Given the description of an element on the screen output the (x, y) to click on. 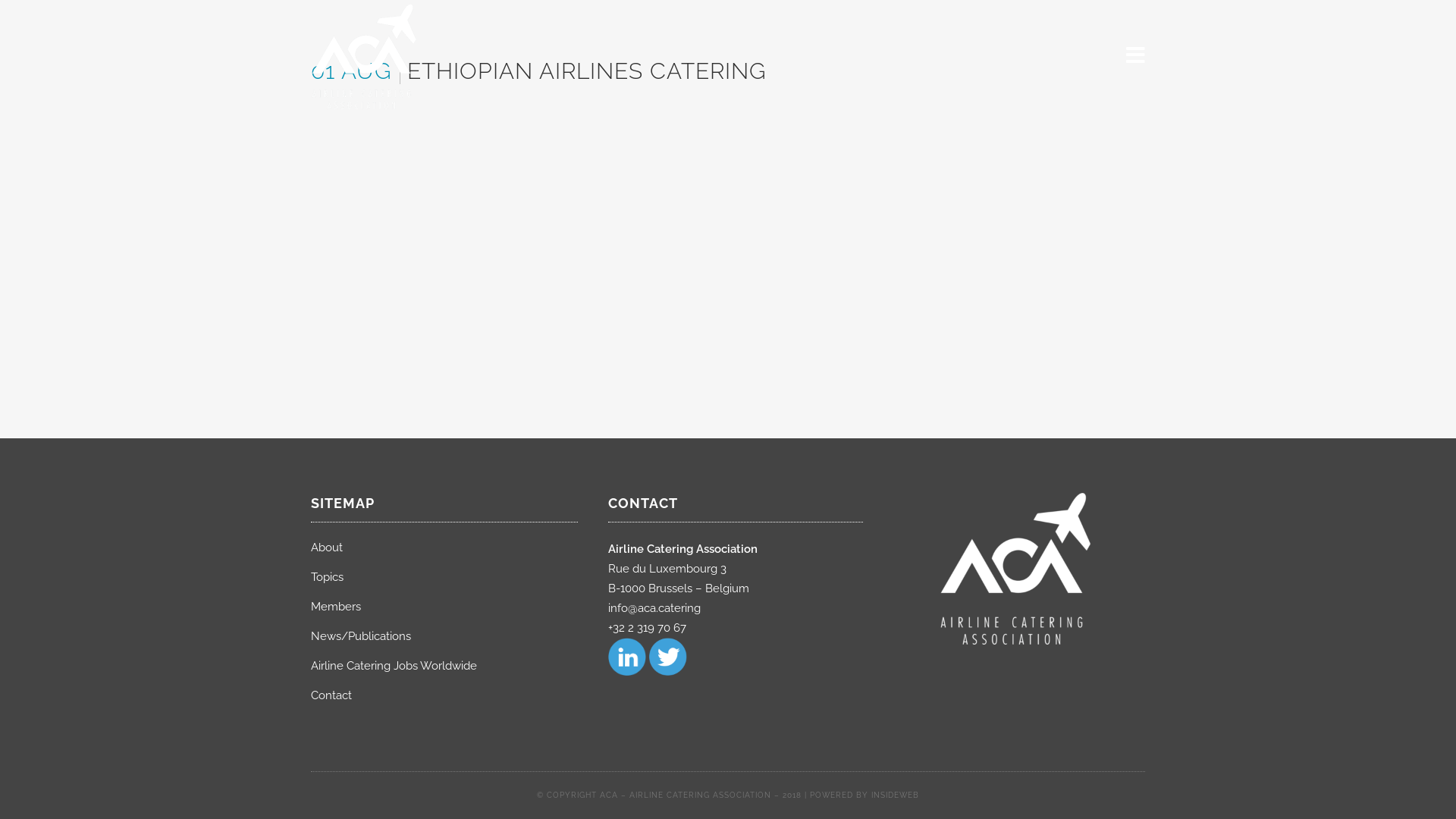
+32 2 319 70 67 Element type: text (647, 627)
INSIDEWEB Element type: text (895, 787)
Contact Element type: text (443, 695)
Topics Element type: text (443, 576)
Airline Catering Jobs Worldwide Element type: text (443, 665)
News/Publications Element type: text (443, 635)
About Element type: text (443, 547)
info@aca.catering Element type: text (654, 608)
Members Element type: text (443, 606)
